Given the description of an element on the screen output the (x, y) to click on. 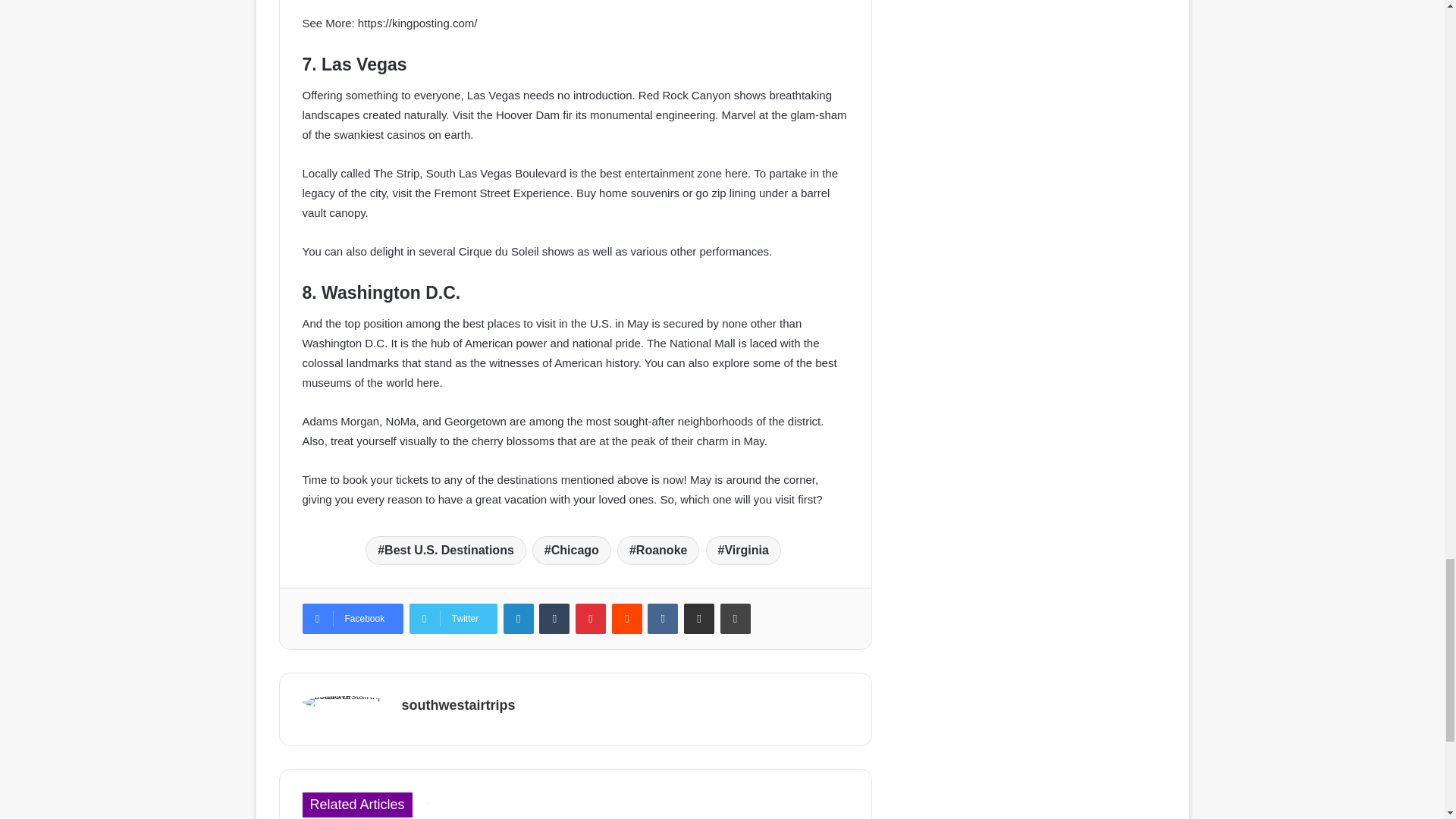
Best U.S. Destinations (445, 550)
LinkedIn (518, 618)
Virginia (742, 550)
Facebook (352, 618)
LinkedIn (518, 618)
Pinterest (590, 618)
Twitter (453, 618)
Chicago (571, 550)
Facebook (352, 618)
Tumblr (553, 618)
